Given the description of an element on the screen output the (x, y) to click on. 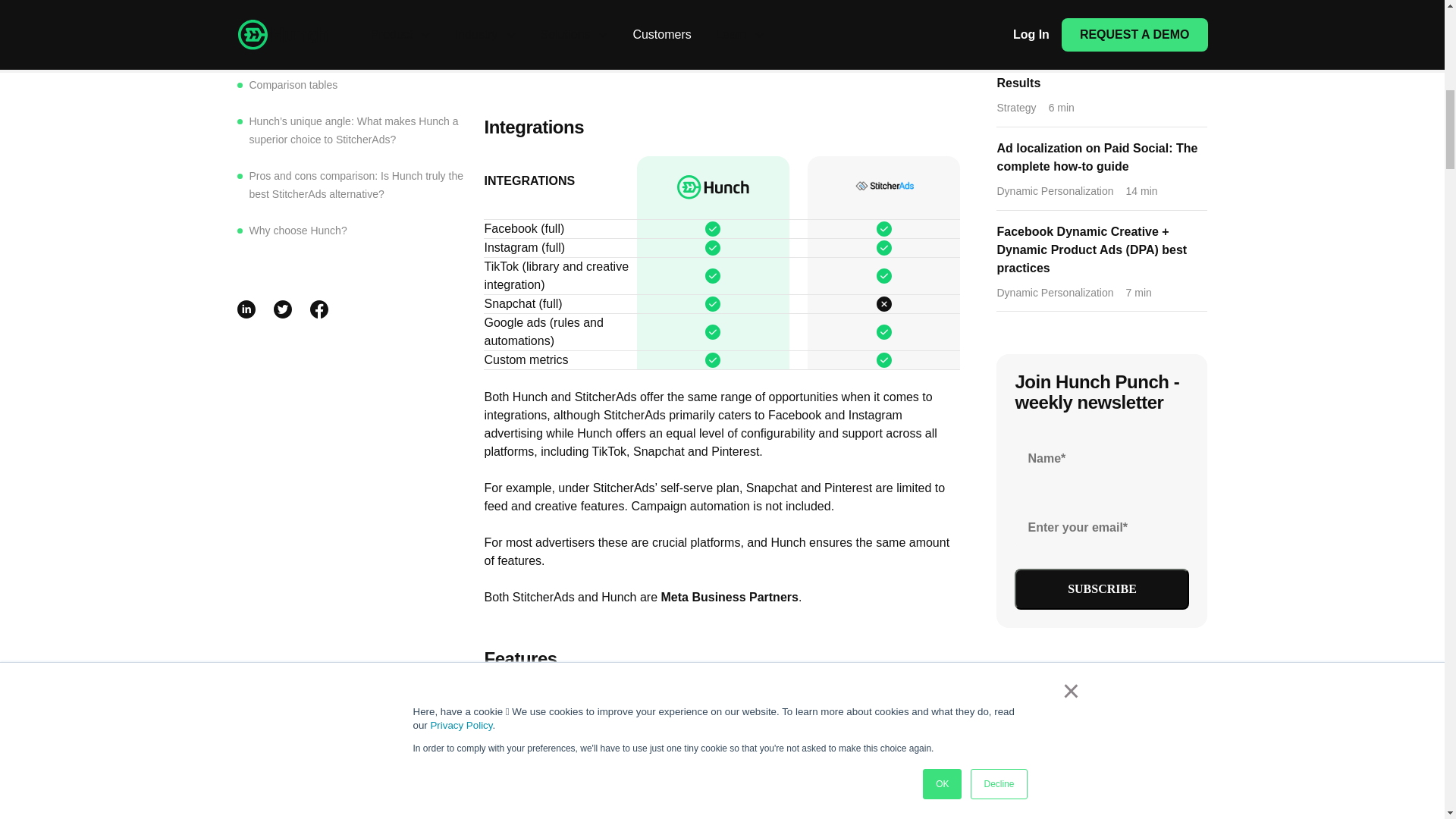
Subscribe (1101, 588)
